Given the description of an element on the screen output the (x, y) to click on. 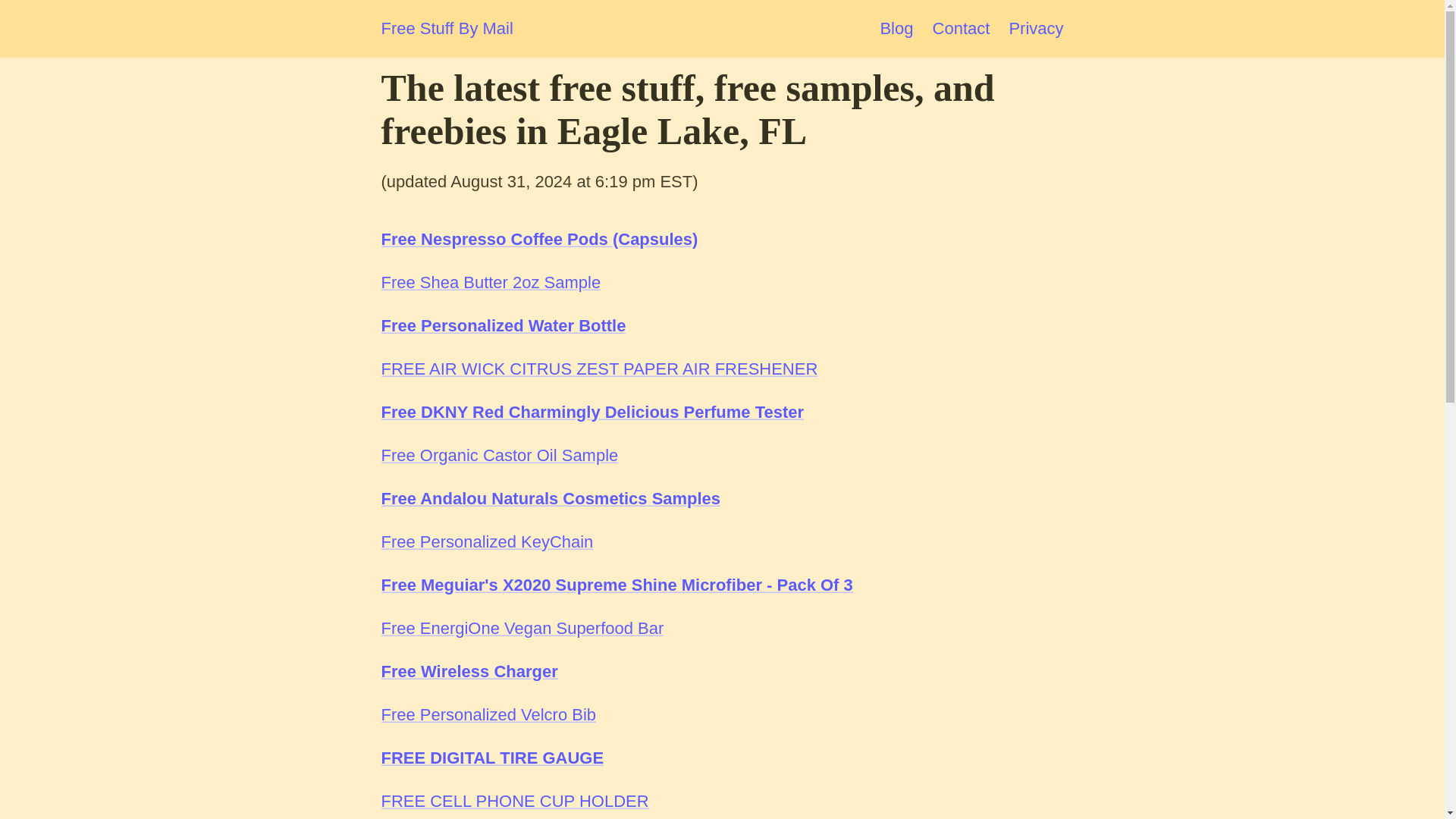
Free DKNY Red Charmingly Delicious Perfume Tester (591, 411)
Free Shea Butter 2oz Sample (489, 281)
Free Meguiar's X2020 Supreme Shine Microfiber - Pack Of 3 (615, 584)
Free Stuff By Mail (446, 28)
Privacy (1035, 27)
FREE DIGITAL TIRE GAUGE (492, 757)
Free Wireless Charger (468, 670)
FREE CELL PHONE CUP HOLDER (513, 800)
Contact (961, 27)
Free Personalized Velcro Bib (487, 714)
